Given the description of an element on the screen output the (x, y) to click on. 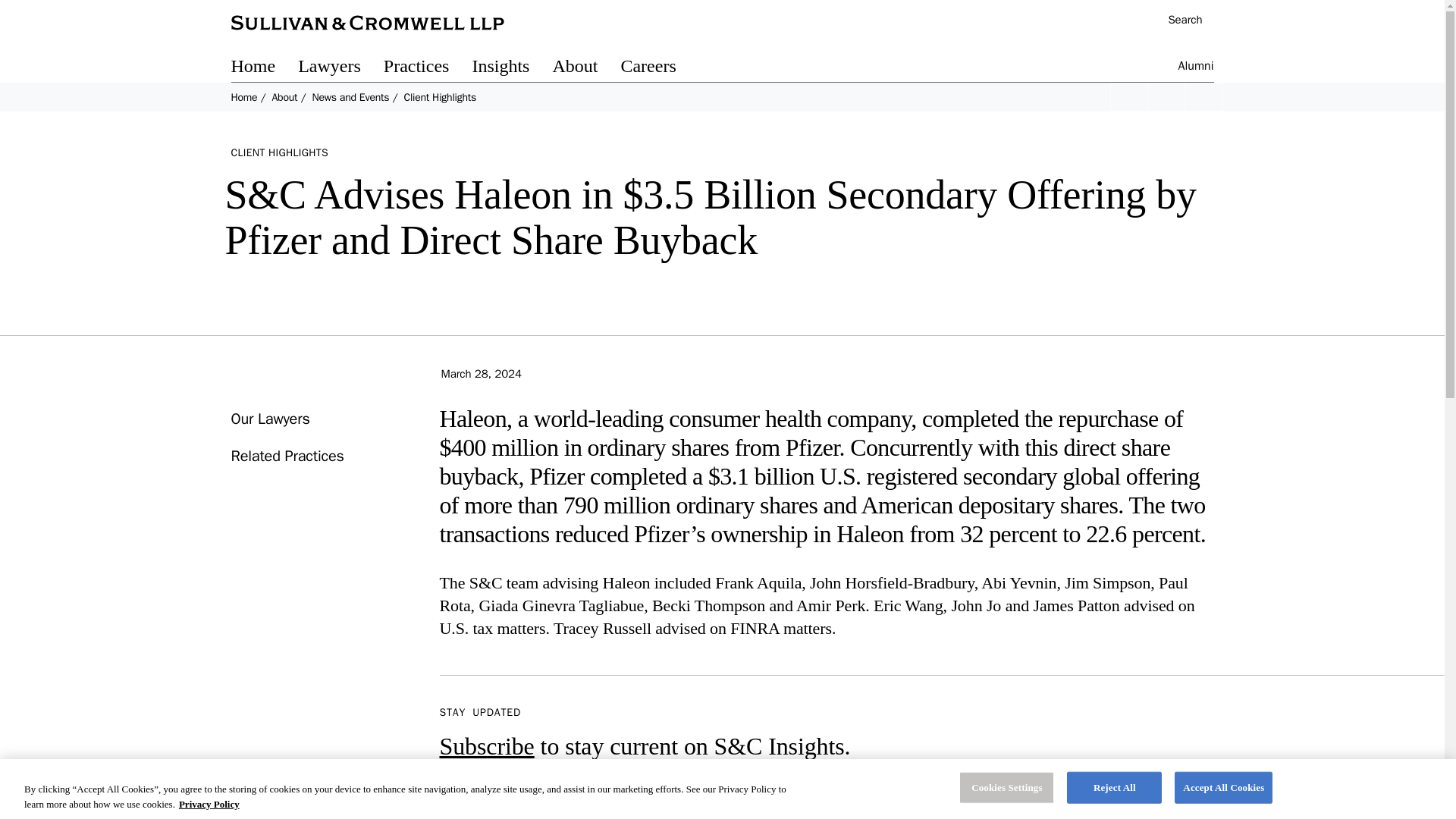
Insights (511, 67)
Home (264, 67)
Lawyers (341, 67)
Practices (427, 67)
About (283, 97)
Our Lawyers (269, 418)
About (585, 67)
Alumni (1195, 67)
Related Practices (286, 456)
Careers (659, 67)
News and Events (349, 97)
Subscribe (486, 746)
Home (243, 97)
Search (1176, 20)
